Given the description of an element on the screen output the (x, y) to click on. 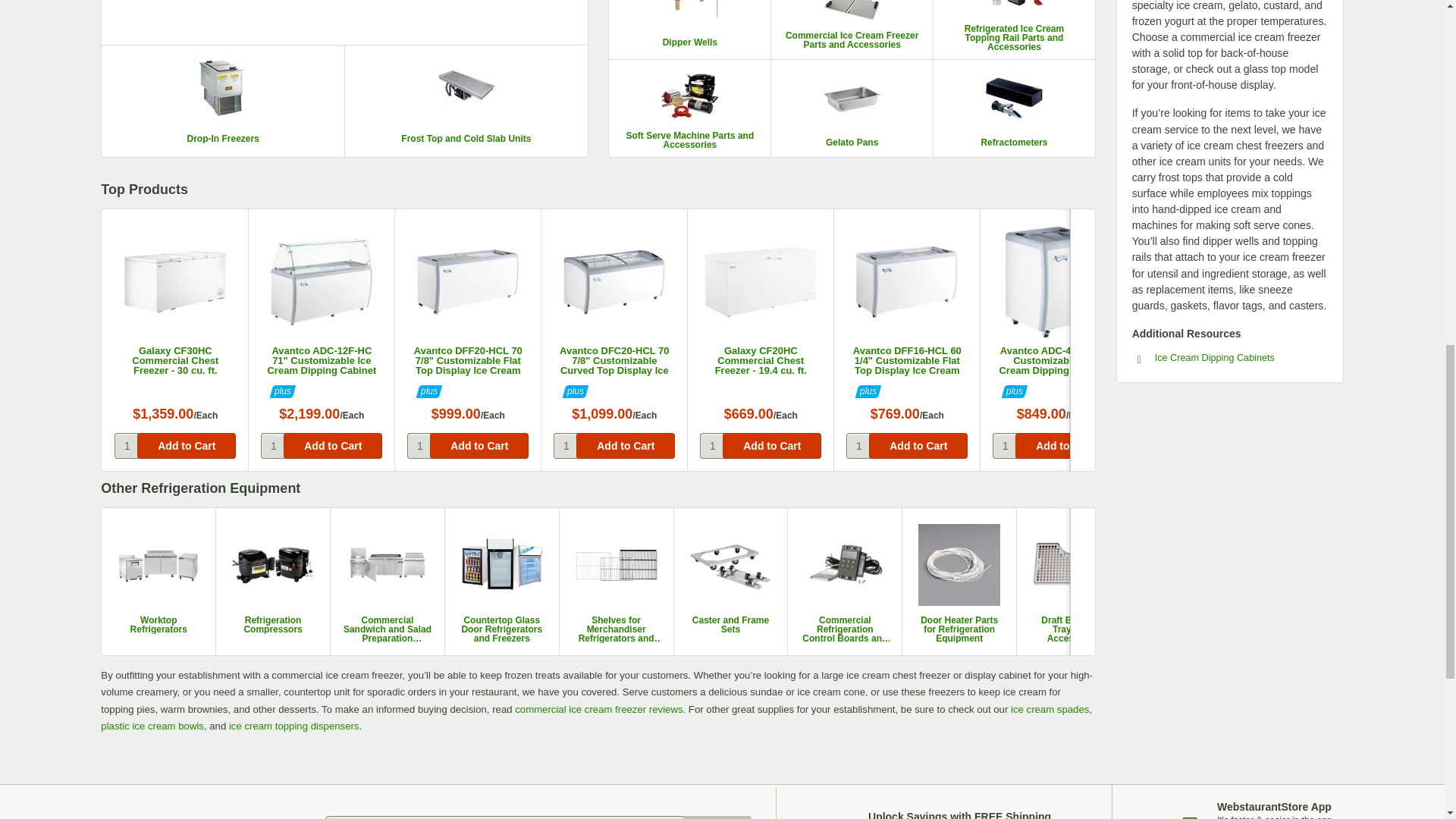
1 (857, 445)
1 (565, 445)
Food Truck Refrigeration (1187, 624)
Add to Cart (1210, 445)
Hinges and Hinge Hardware for Refrigeration Equipment (1302, 581)
1 (1004, 445)
Add to Cart (625, 445)
Hinges and Hinge Hardware for Refrigeration Equipment (1302, 628)
Commercial Sandwich and Salad Preparation Refrigerators (387, 628)
Add to Cart (771, 445)
Commercial Sandwich and Salad Preparation Refrigerators (387, 581)
1 (272, 445)
1 (418, 445)
Add to Cart (185, 445)
